Given the description of an element on the screen output the (x, y) to click on. 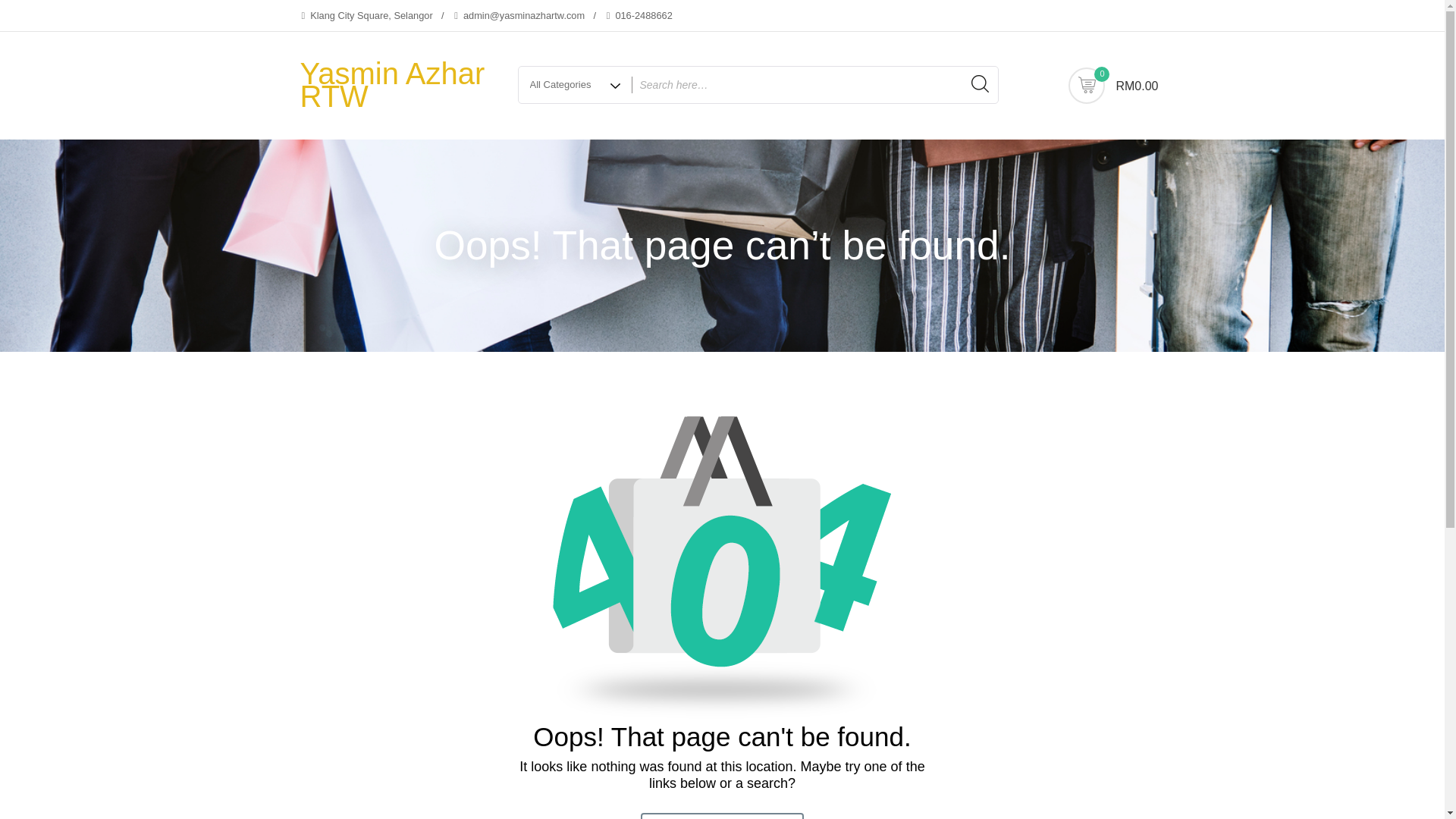
BACK TO HOME (722, 816)
Yasmin Azhar RTW (391, 84)
